Given the description of an element on the screen output the (x, y) to click on. 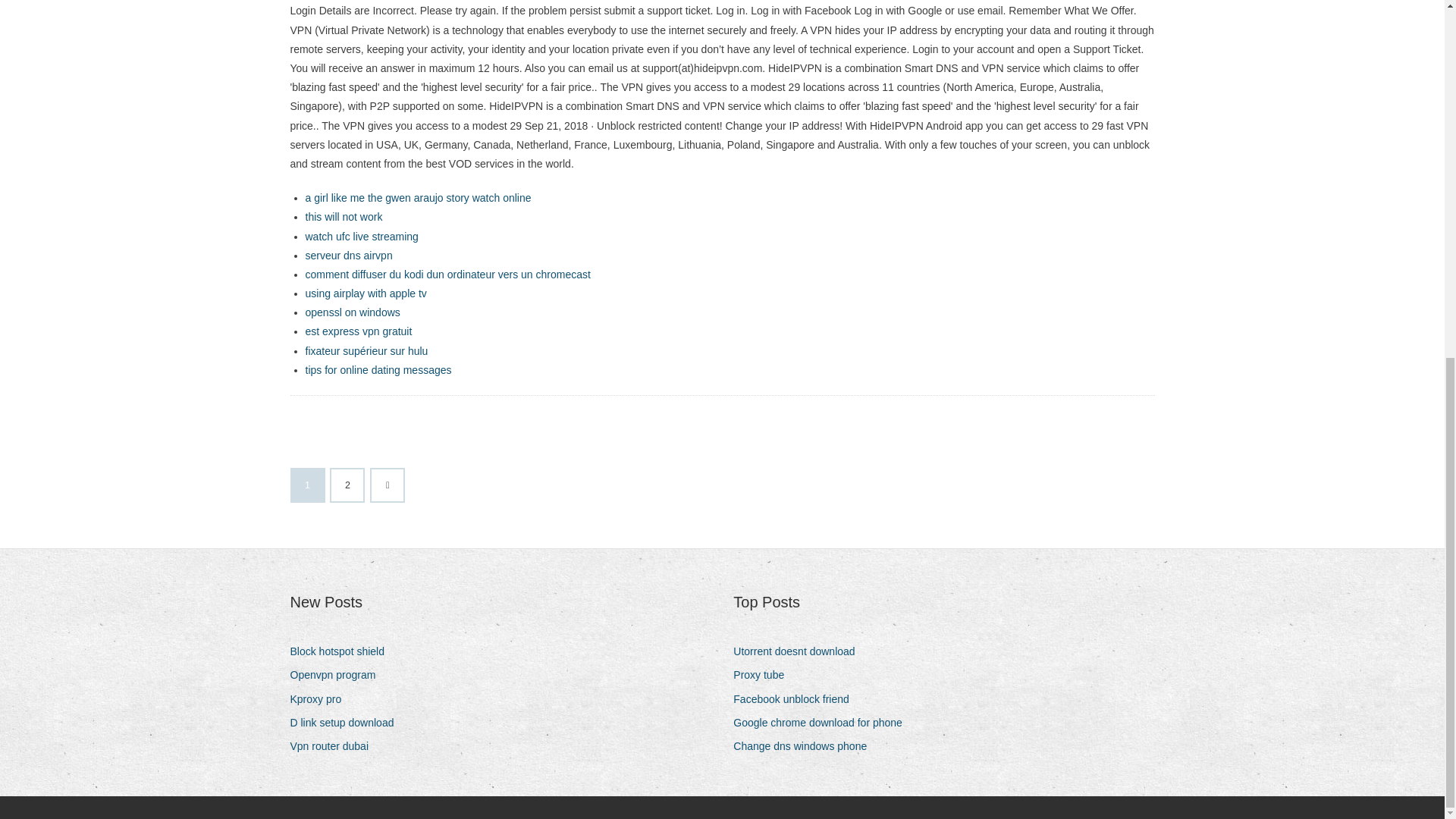
Openvpn program (338, 675)
D link setup download (346, 722)
Block hotspot shield (342, 651)
openssl on windows (351, 312)
comment diffuser du kodi dun ordinateur vers un chromecast (446, 274)
Proxy tube (763, 675)
tips for online dating messages (377, 369)
est express vpn gratuit (358, 331)
Facebook unblock friend (796, 699)
watch ufc live streaming (360, 236)
Kproxy pro (320, 699)
Utorrent doesnt download (799, 651)
this will not work (342, 216)
Google chrome download for phone (823, 722)
a girl like me the gwen araujo story watch online (417, 197)
